Given the description of an element on the screen output the (x, y) to click on. 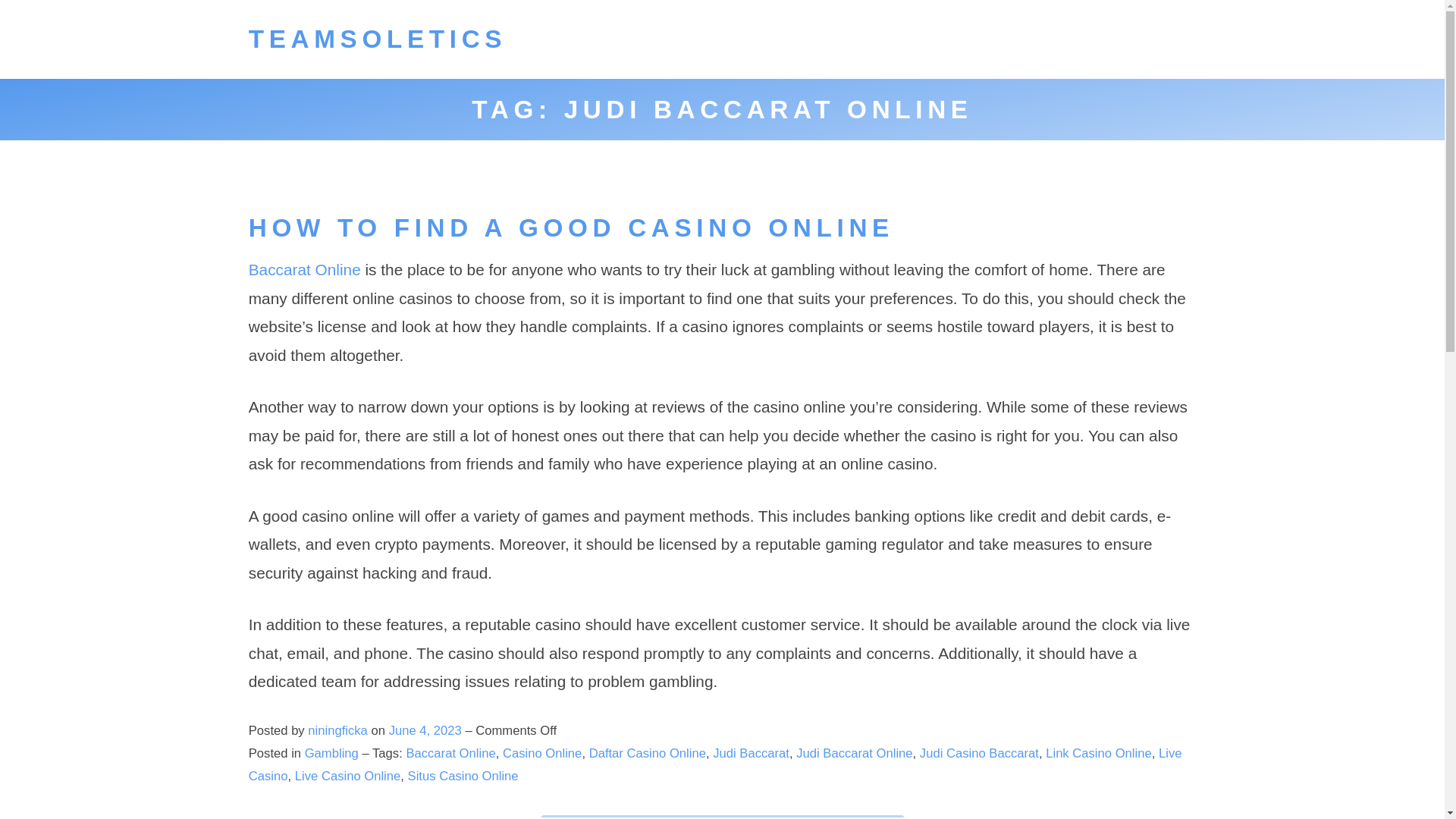
HOW TO FIND A GOOD CASINO ONLINE (570, 227)
June 4, 2023 (426, 730)
Baccarat Online (304, 269)
Casino Online (541, 753)
Live Casino (715, 764)
Judi Baccarat Online (854, 753)
TEAMSOLETICS (377, 39)
niningficka (337, 730)
Link Casino Online (1098, 753)
Judi Baccarat (751, 753)
Situs Casino Online (462, 775)
Gambling (331, 753)
Baccarat Online (450, 753)
Daftar Casino Online (647, 753)
Judi Casino Baccarat (979, 753)
